Given the description of an element on the screen output the (x, y) to click on. 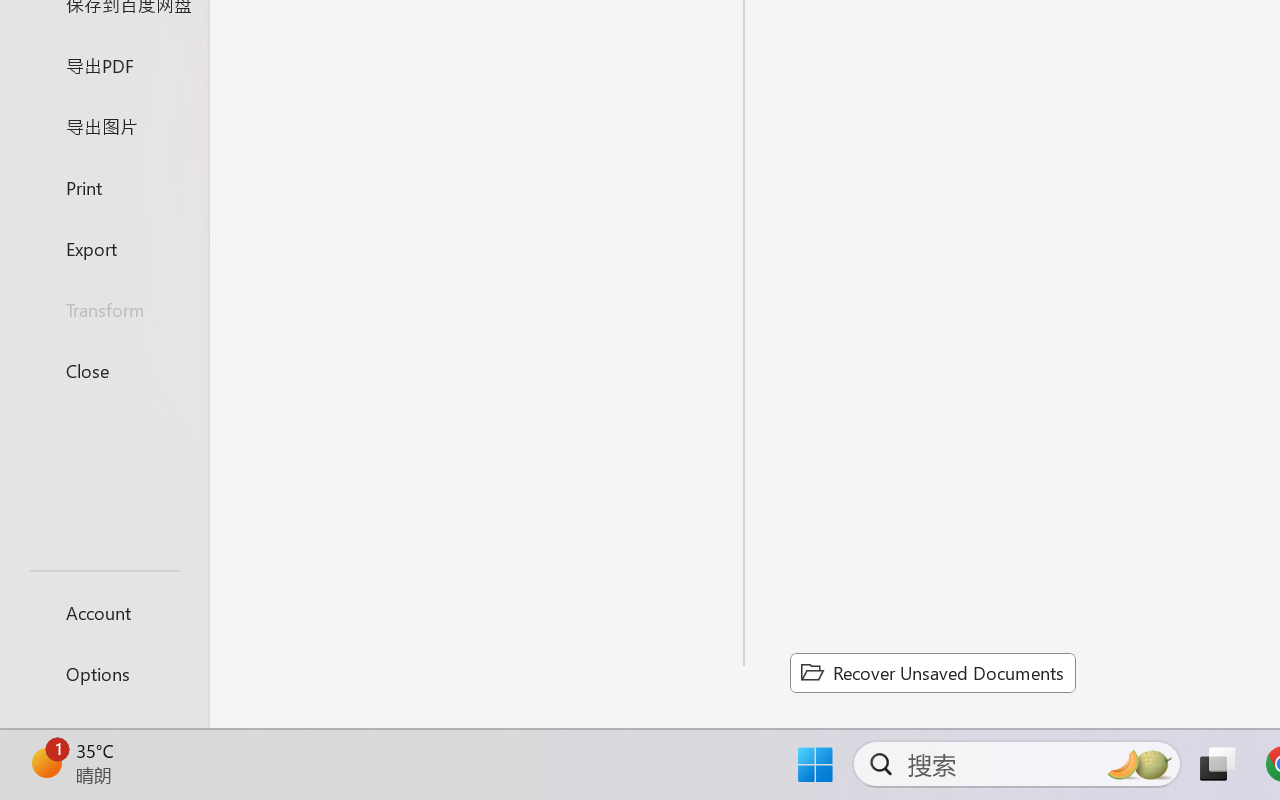
Account (104, 612)
Transform (104, 309)
Options (104, 673)
Recover Unsaved Documents (932, 672)
Export (104, 248)
Print (104, 186)
